Given the description of an element on the screen output the (x, y) to click on. 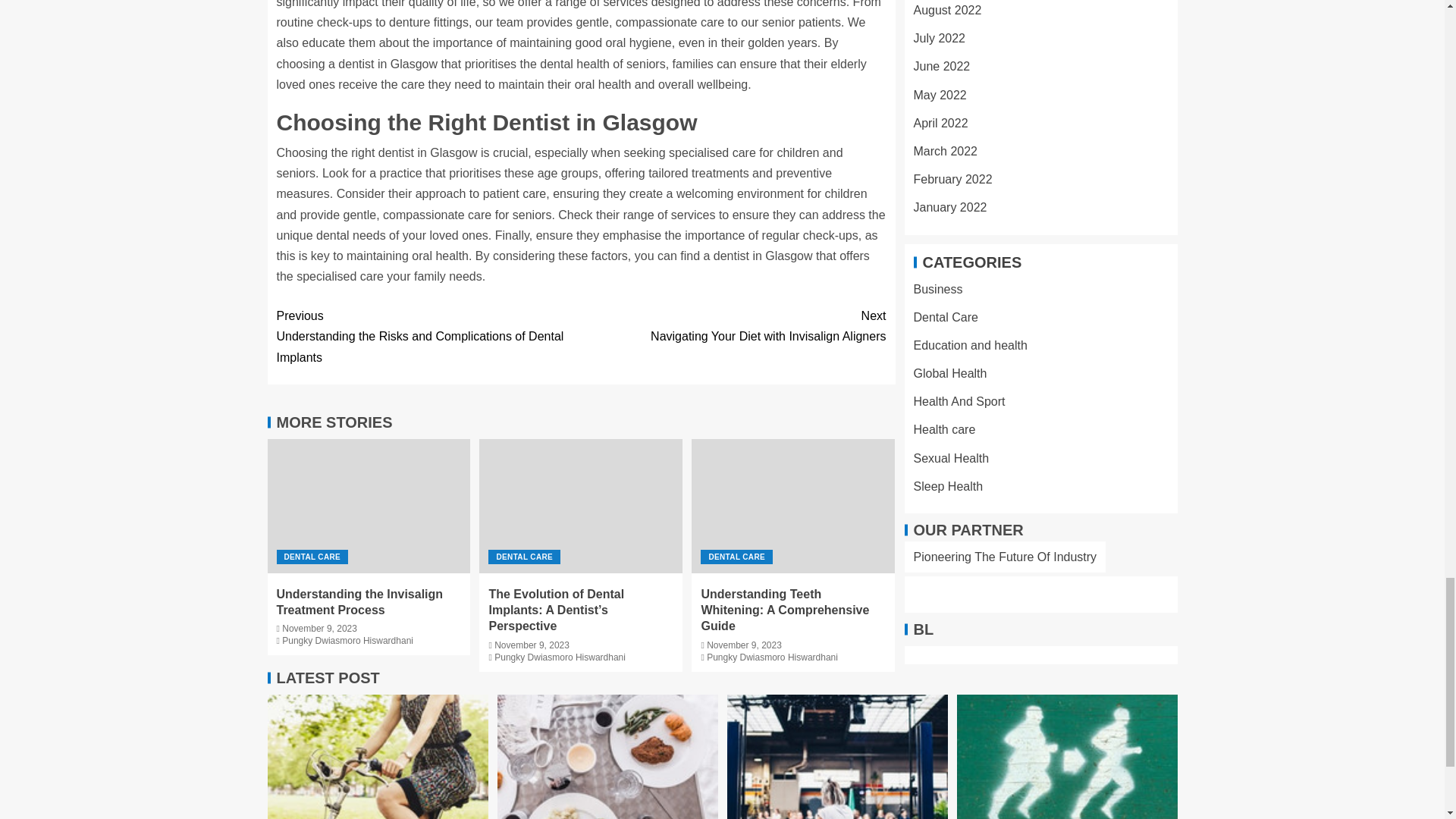
DENTAL CARE (523, 556)
Importance of Education in Nutrition (836, 756)
How Stand Up Paddle Boarding Can Benefit You (1066, 756)
Understanding the Invisalign Treatment Process (359, 602)
Pungky Dwiasmoro Hiswardhani (732, 325)
DENTAL CARE (347, 640)
